Given the description of an element on the screen output the (x, y) to click on. 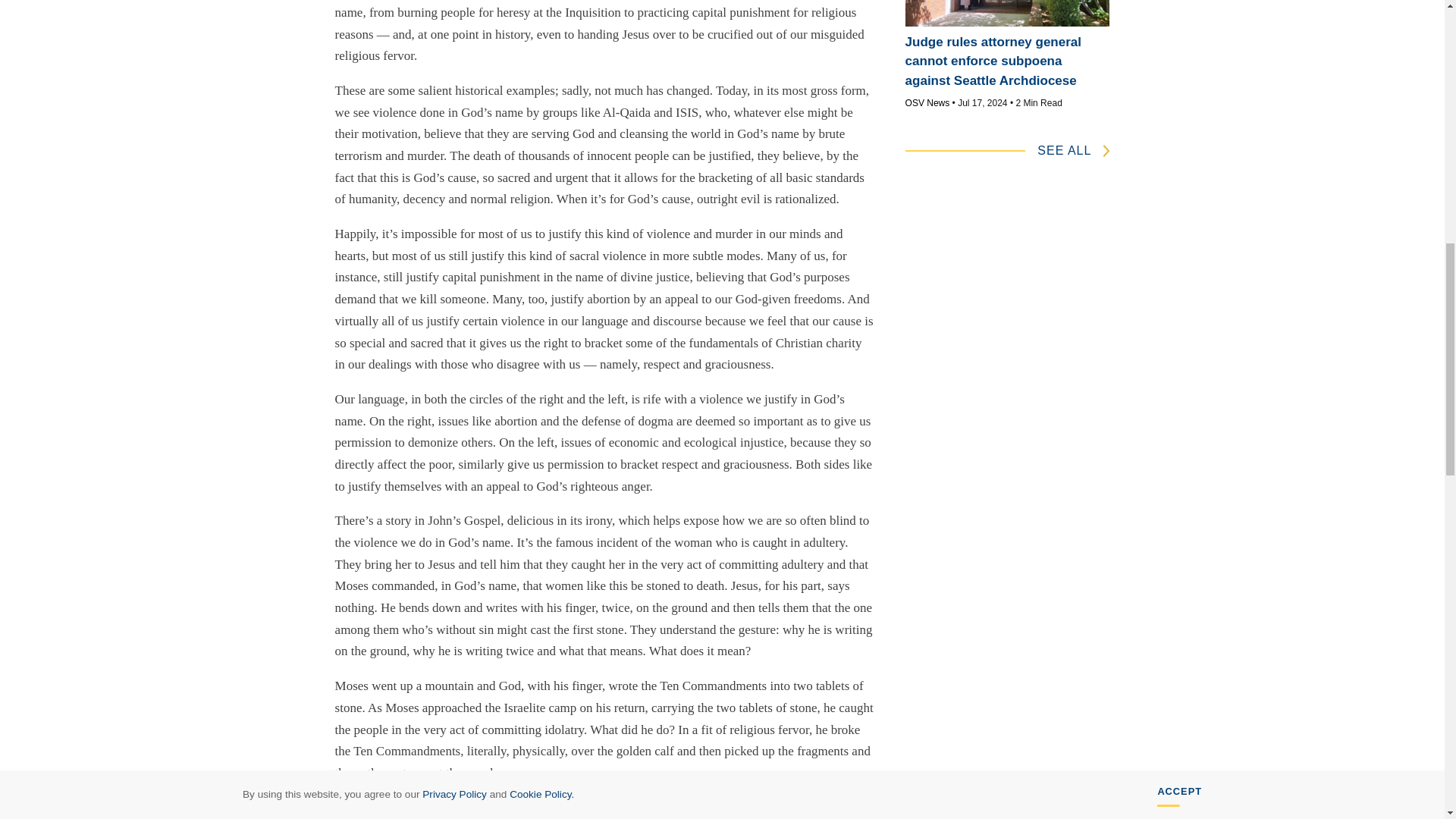
Posts by OSV News (927, 102)
